Given the description of an element on the screen output the (x, y) to click on. 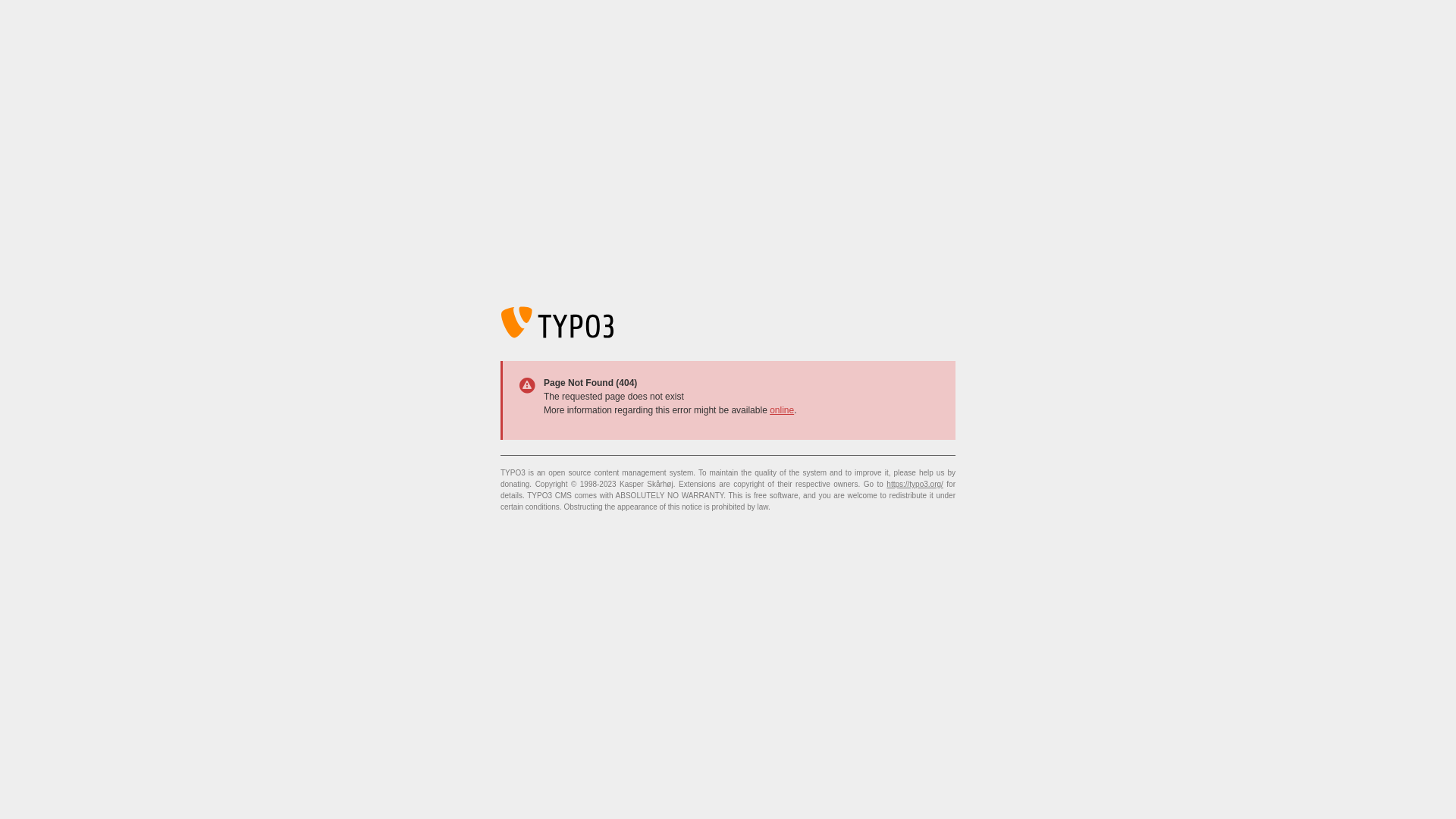
online Element type: text (781, 409)
https://typo3.org/ Element type: text (914, 484)
